Given the description of an element on the screen output the (x, y) to click on. 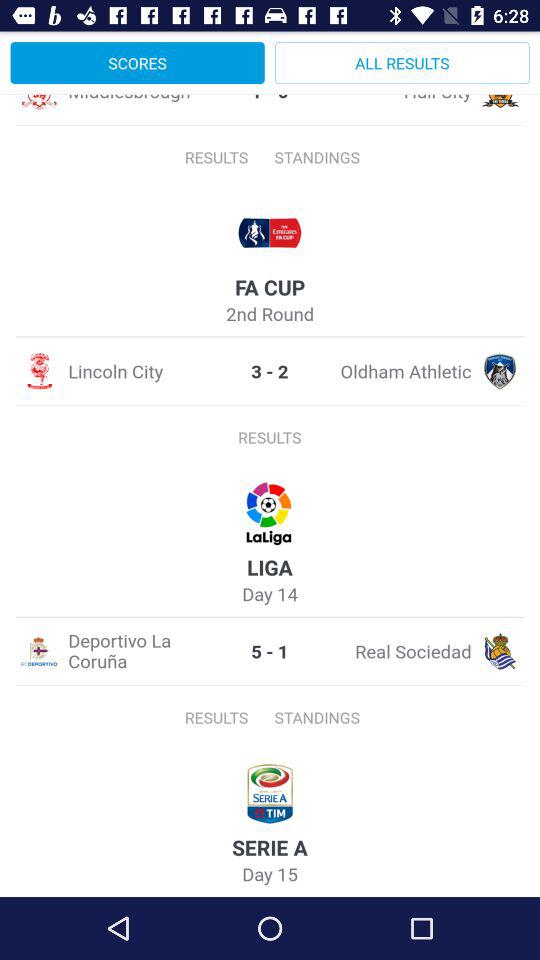
scroll until the scores item (137, 62)
